Given the description of an element on the screen output the (x, y) to click on. 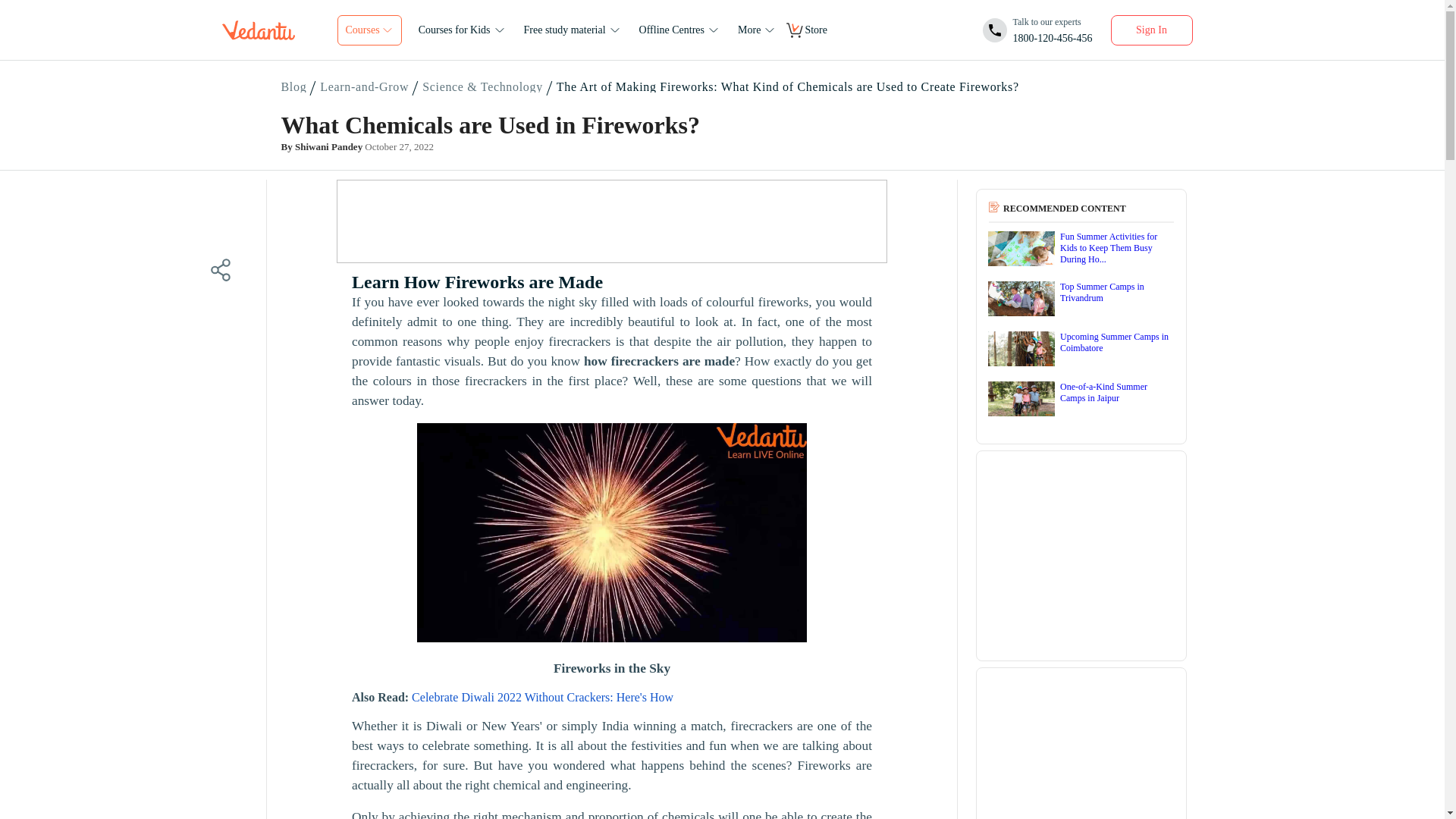
Upcoming Summer Camps in Coimbatore (1080, 350)
Sign In (1150, 30)
Top Summer Camps in Trivandrum (1080, 300)
One-of-a-Kind Summer Camps in Jaipur (1080, 400)
Blog (295, 86)
Celebrate Diwali 2022 Without Crackers: Here's How (1037, 30)
Offline Centres (542, 697)
Learn-and-Grow (680, 30)
